Given the description of an element on the screen output the (x, y) to click on. 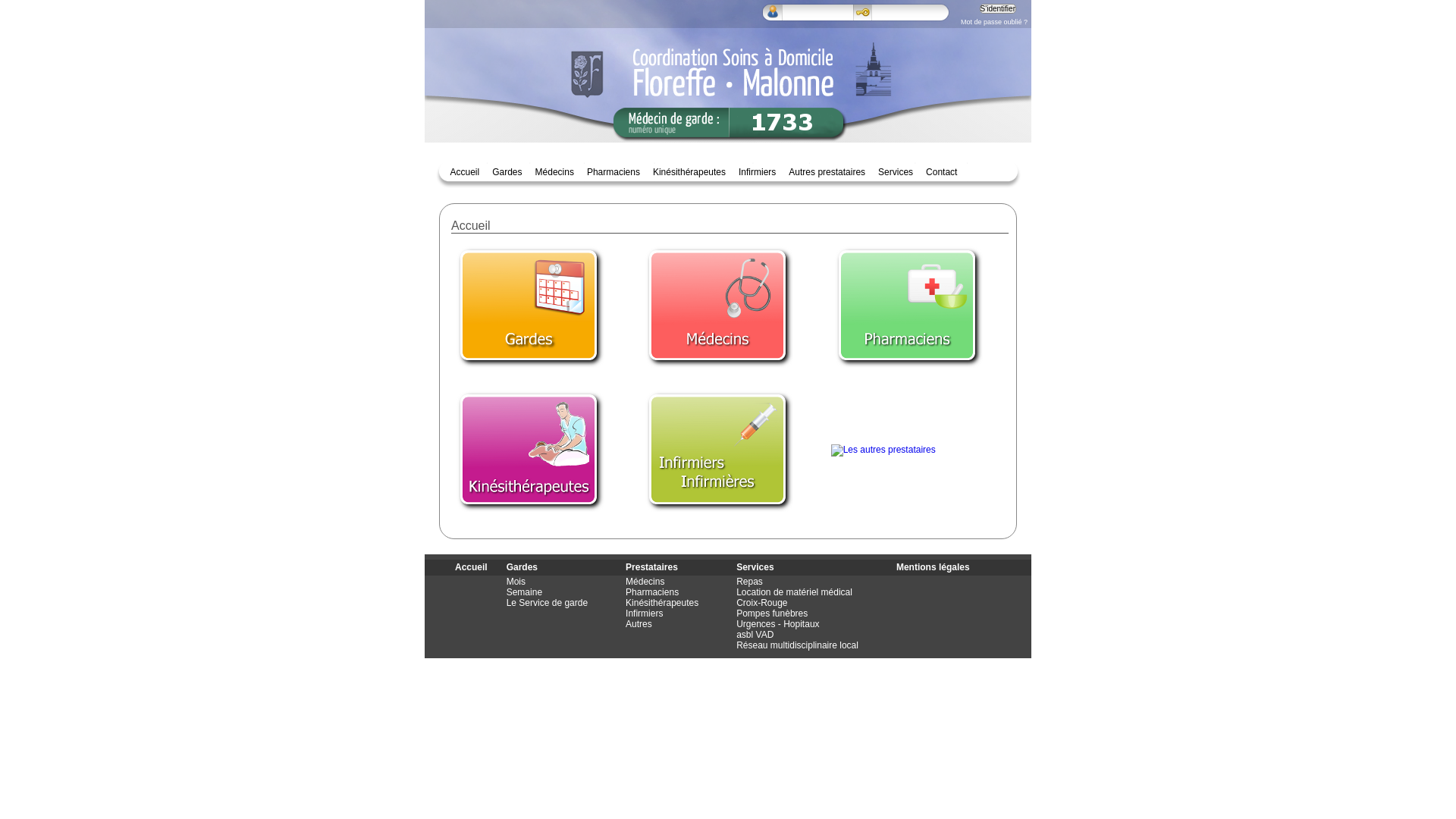
Votre adresse email Element type: hover (829, 12)
Mois Element type: text (515, 581)
Autres Element type: text (638, 623)
S'identifier Element type: text (997, 8)
Services Element type: text (754, 566)
Accueil Element type: text (465, 171)
Pharmaciens Element type: text (613, 171)
asbl VAD Element type: text (754, 634)
Repas Element type: text (749, 581)
Les autres prestataires Element type: hover (883, 450)
Pharmaciens Element type: hover (906, 304)
Contact Element type: text (941, 171)
Infirmiers Element type: text (643, 613)
Urgences - Hopitaux Element type: text (777, 623)
Les gardes Element type: hover (528, 304)
Infirmiers Element type: text (756, 171)
Gardes Element type: text (521, 566)
Services Element type: text (895, 171)
Accueil Element type: text (471, 566)
Croix-Rouge Element type: text (761, 602)
Pharmaciens Element type: text (651, 591)
Semaine Element type: text (524, 591)
Le Service de garde Element type: text (546, 602)
Autres prestataires Element type: text (826, 171)
Prestataires Element type: text (651, 566)
